Given the description of an element on the screen output the (x, y) to click on. 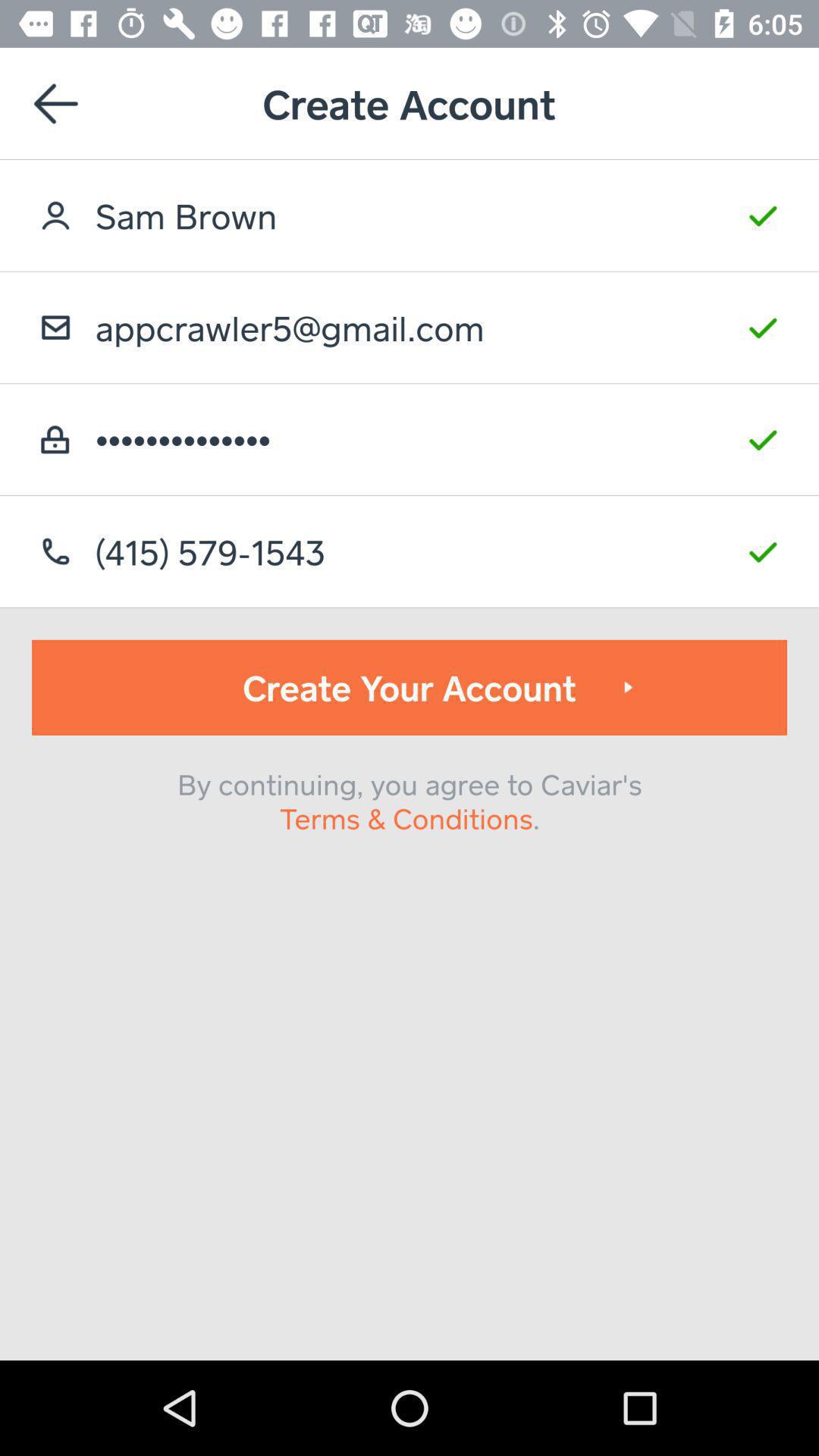
go back a page (55, 103)
